Given the description of an element on the screen output the (x, y) to click on. 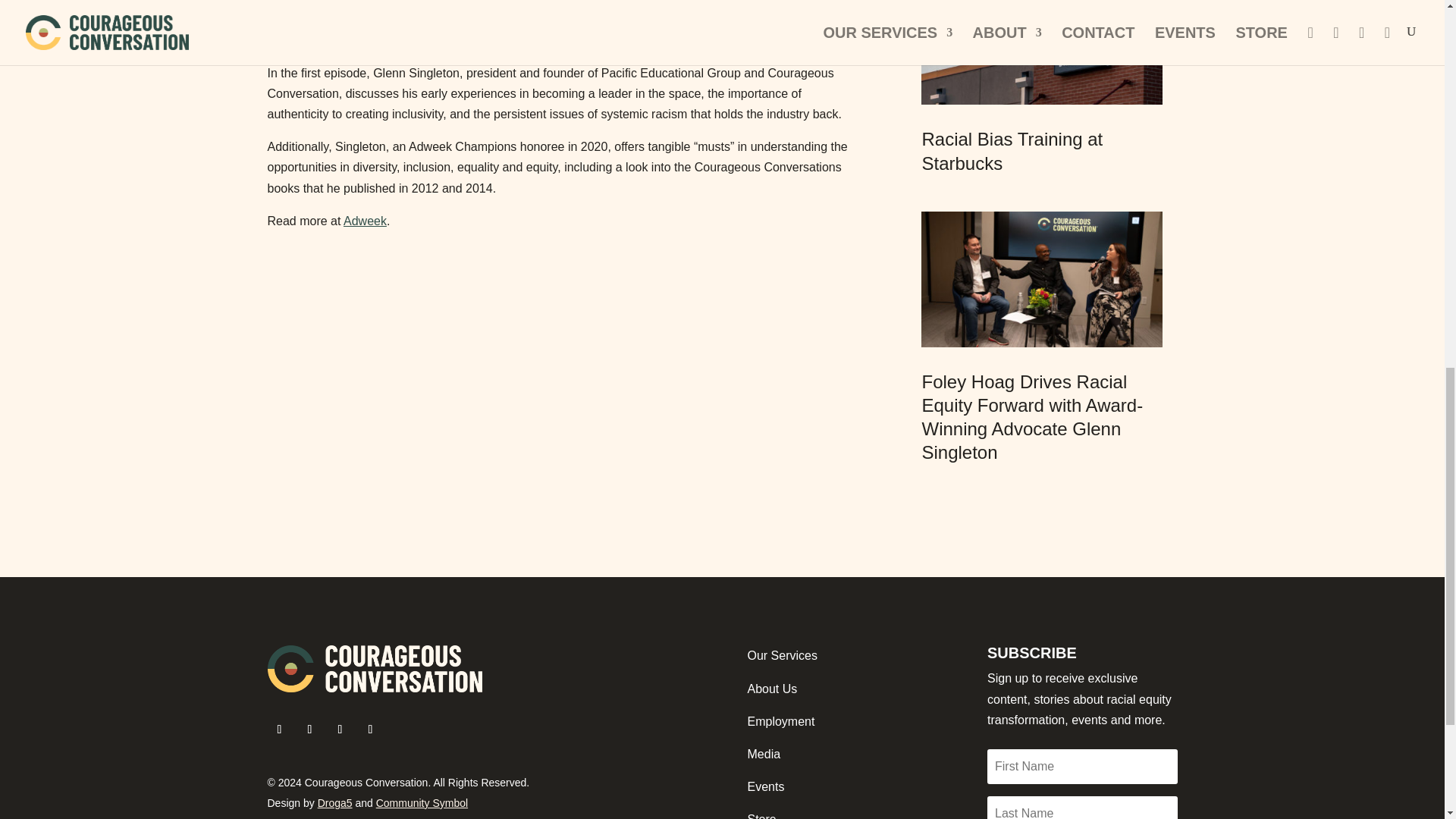
Follow on LinkedIn (369, 729)
Follow on Facebook (278, 729)
Follow on Instagram (339, 729)
Follow on X (309, 729)
Adweek (365, 220)
